Given the description of an element on the screen output the (x, y) to click on. 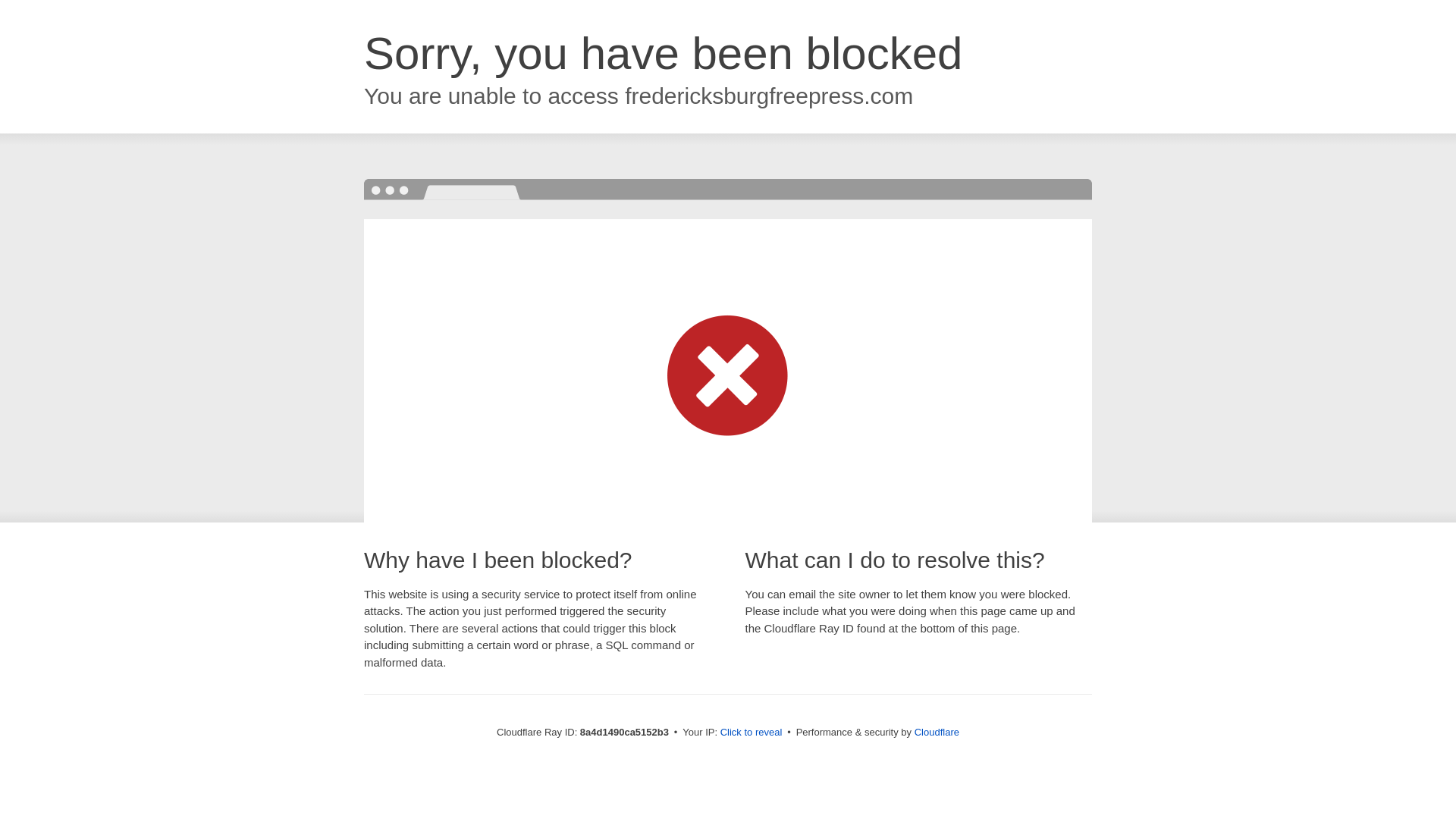
Click to reveal (751, 732)
Cloudflare (936, 731)
